Given the description of an element on the screen output the (x, y) to click on. 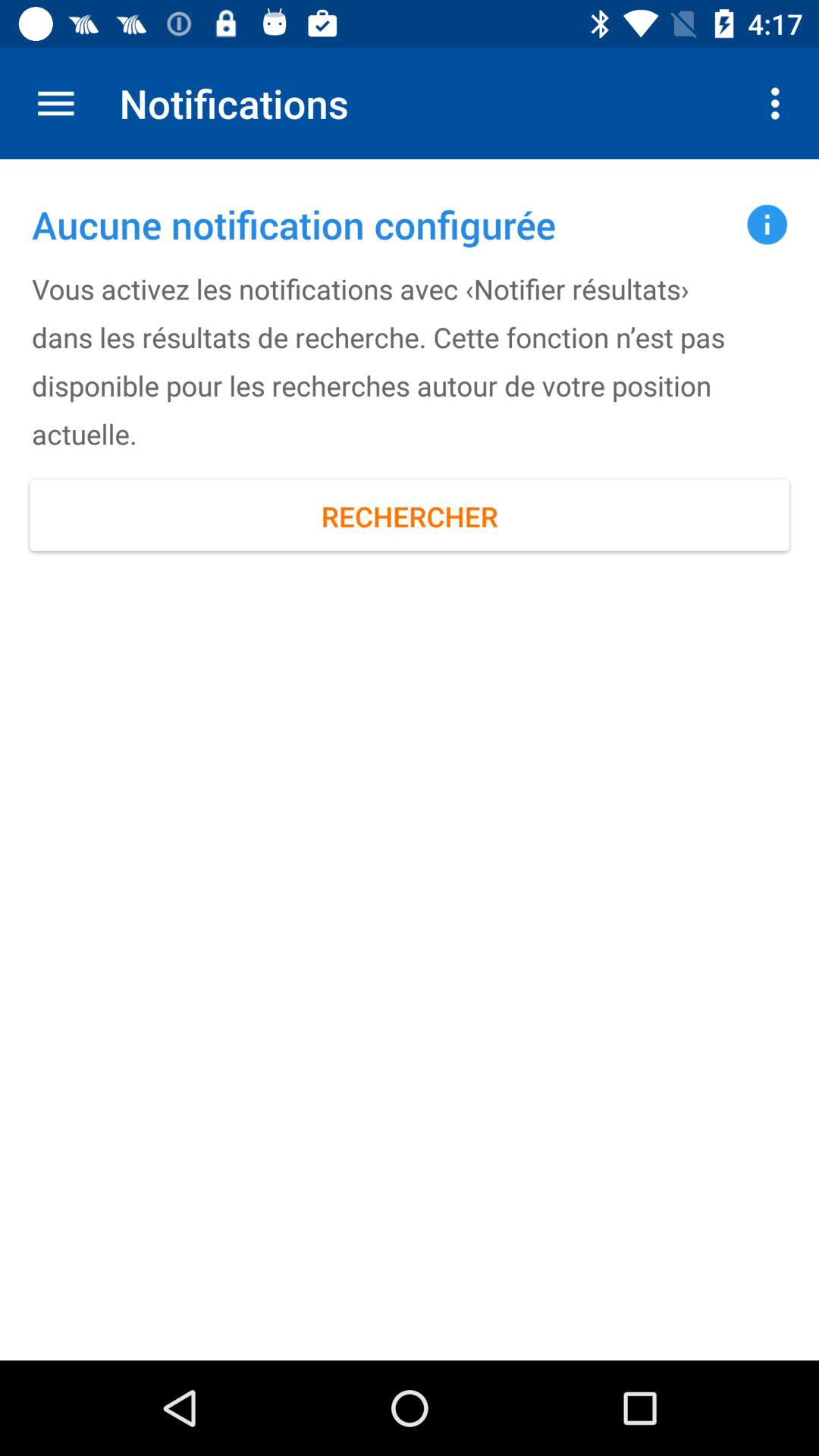
turn on the item next to the notifications item (779, 103)
